Given the description of an element on the screen output the (x, y) to click on. 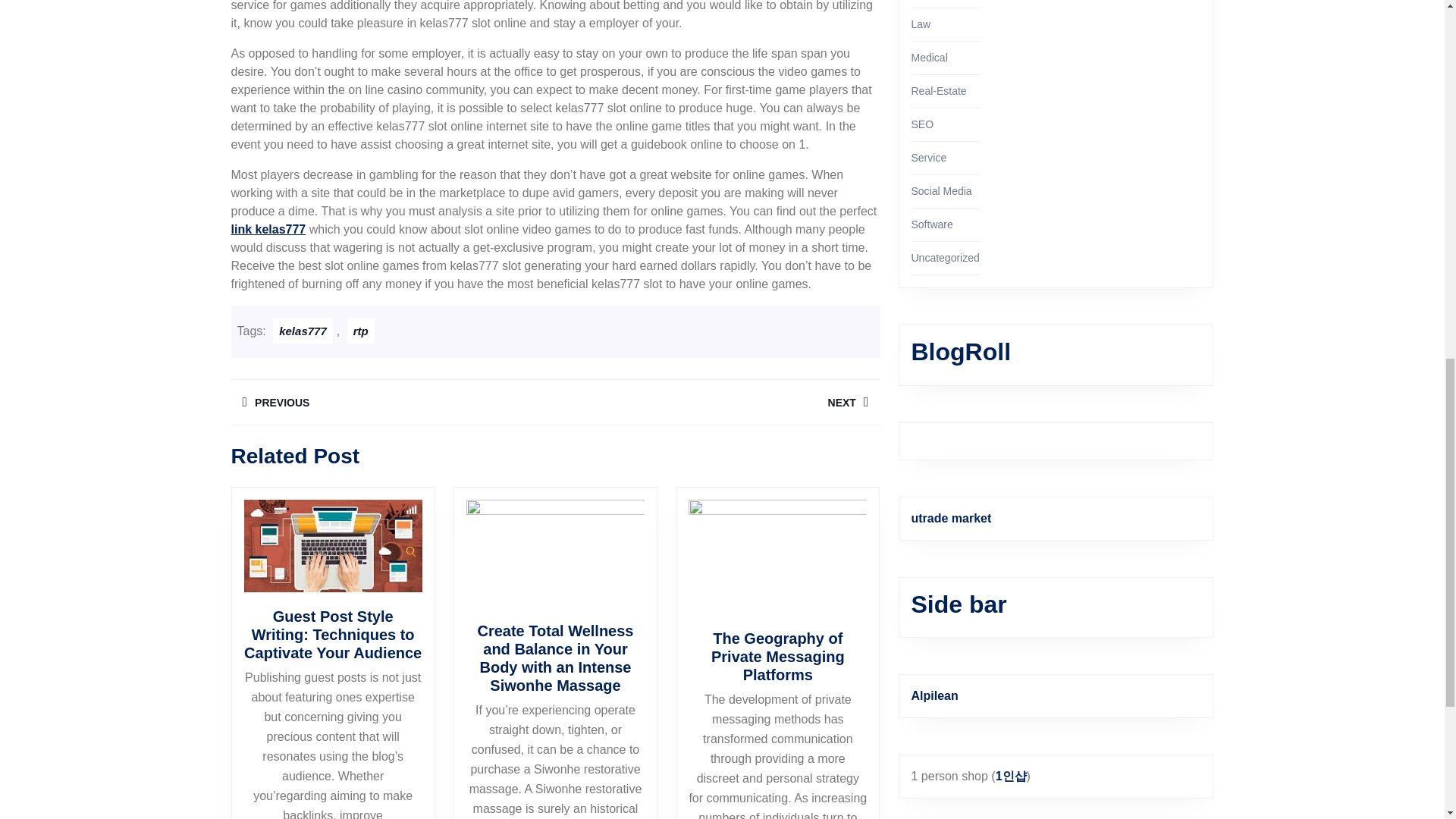
link kelas777 (392, 402)
rtp (716, 402)
kelas777 (267, 228)
